Given the description of an element on the screen output the (x, y) to click on. 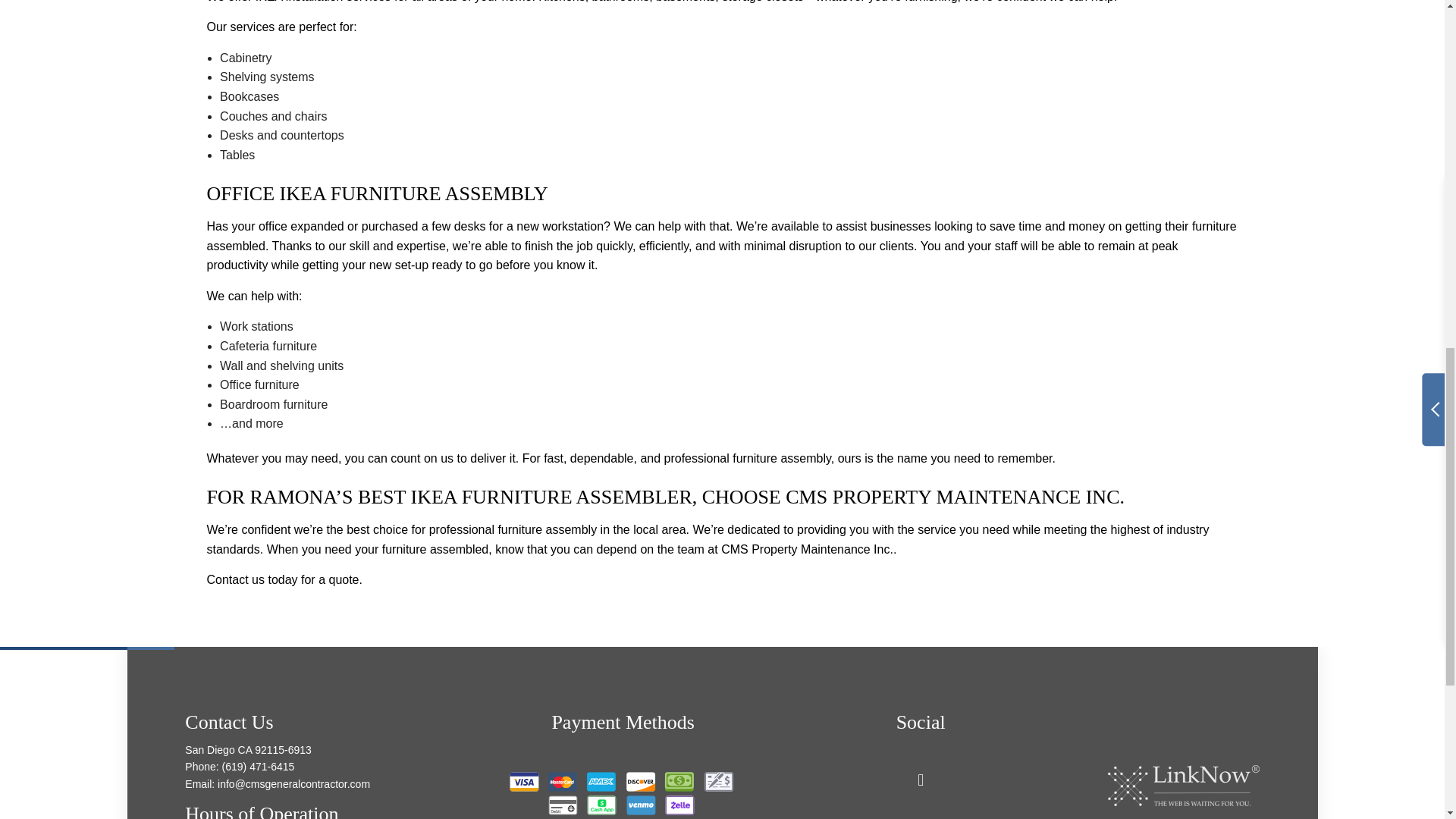
American Express (601, 781)
Visa (524, 781)
Mastercard (562, 781)
Zelle (679, 804)
Debit Card (562, 804)
Cash App (601, 804)
Check (719, 781)
Discover (640, 781)
Cash (679, 781)
Venmo (640, 804)
